Given the description of an element on the screen output the (x, y) to click on. 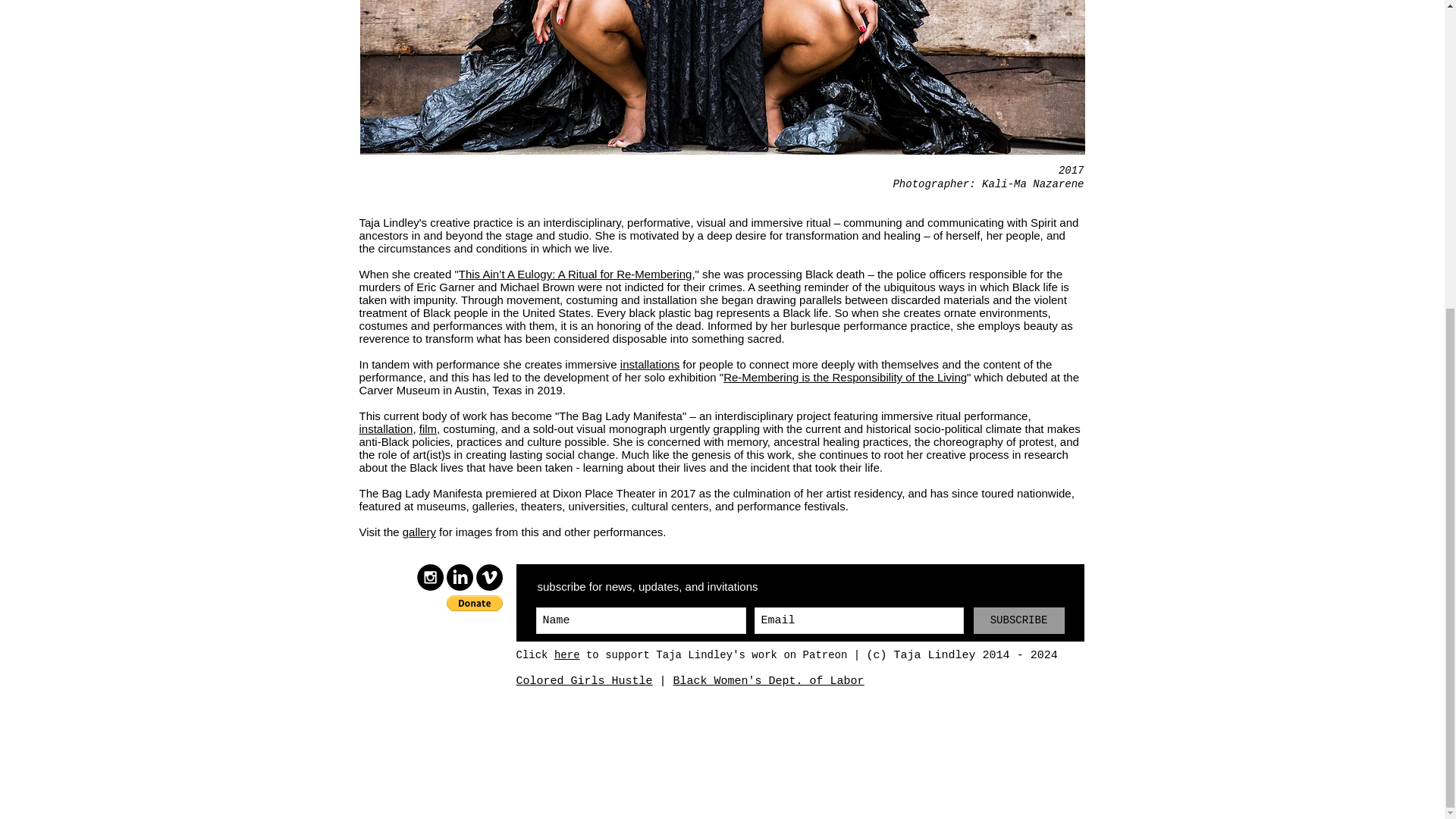
here (566, 654)
Colored Girls Hustle (583, 680)
installation (386, 428)
gallery (419, 531)
SUBSCRIBE (1019, 620)
Black Women's Dept. of Labor (768, 680)
Re-Membering is the Responsibility of the Living (844, 377)
film, (430, 428)
installations (649, 364)
